Given the description of an element on the screen output the (x, y) to click on. 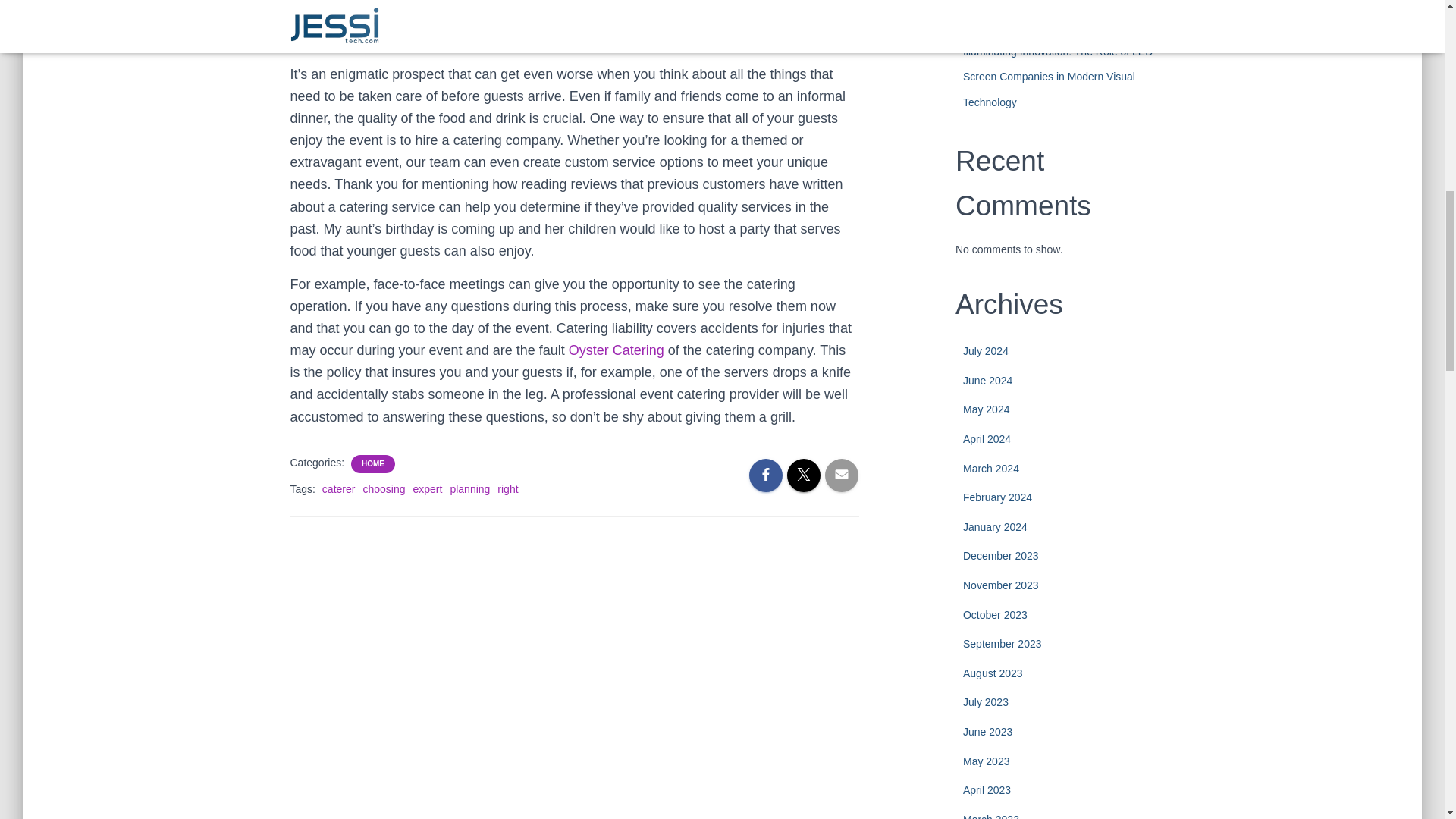
December 2023 (1000, 555)
June 2023 (986, 731)
April 2024 (986, 439)
July 2024 (985, 350)
May 2023 (985, 761)
March 2023 (990, 816)
June 2024 (986, 380)
August 2023 (992, 673)
February 2024 (997, 497)
January 2024 (994, 526)
March 2024 (990, 468)
October 2023 (994, 614)
choosing (383, 489)
